Given the description of an element on the screen output the (x, y) to click on. 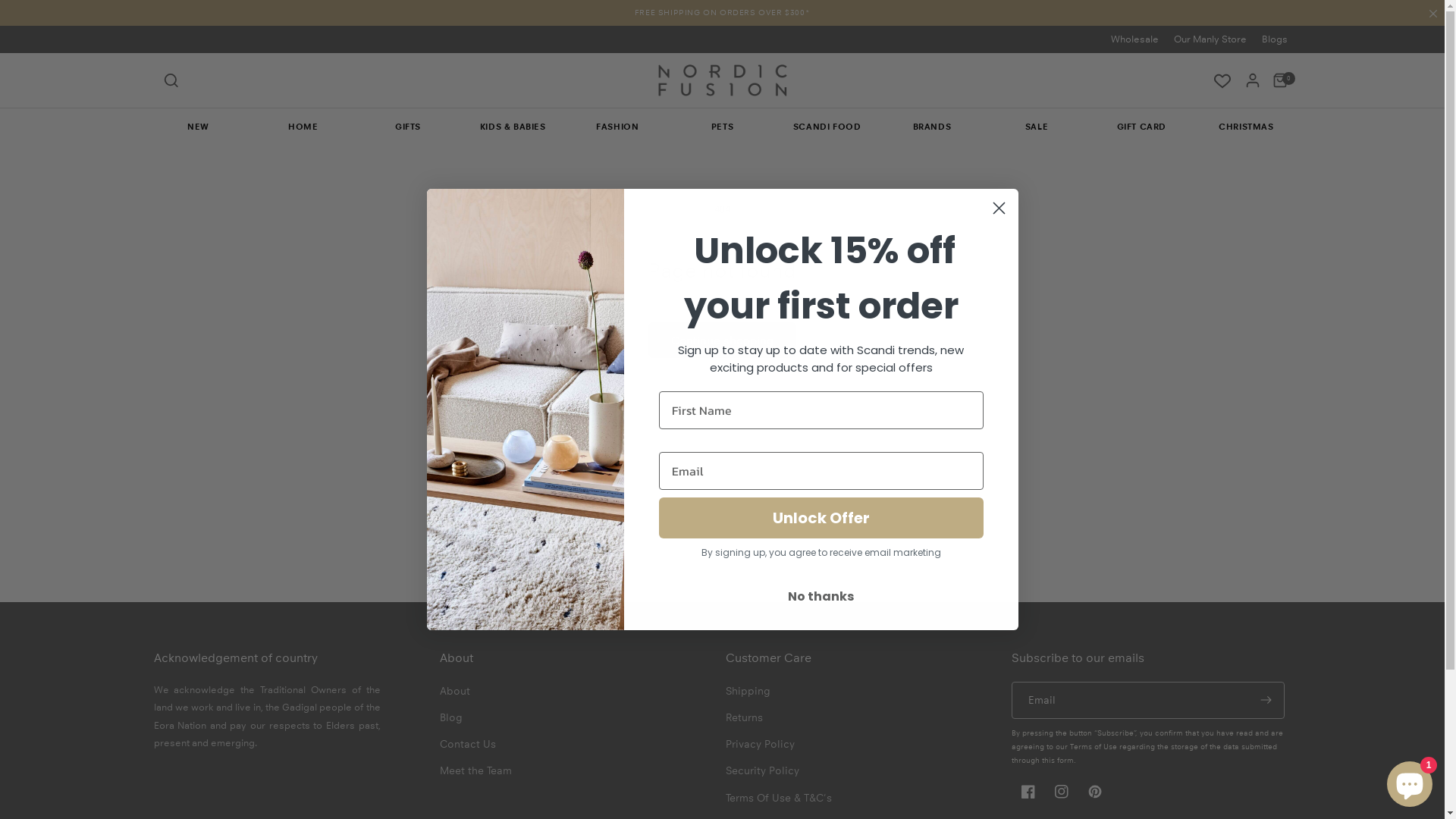
Contact Us Element type: text (467, 744)
About Element type: text (454, 692)
Blogs Element type: text (1274, 39)
No thanks Element type: text (820, 596)
Terms Of Use & T&C's Element type: text (777, 797)
Shipping Element type: text (746, 692)
HOME Element type: text (303, 127)
Returns Element type: text (743, 717)
Pinterest Element type: text (1094, 791)
Meet the Team Element type: text (475, 770)
Close dialog 1 Element type: text (998, 207)
KIDS & BABIES Element type: text (512, 127)
SCANDI FOOD Element type: text (827, 127)
Wholesale Element type: text (1133, 39)
Facebook Element type: text (1027, 791)
BRANDS Element type: text (931, 127)
Log in Element type: text (1251, 80)
Shopify online store chat Element type: hover (1409, 780)
FASHION Element type: text (617, 127)
Privacy Policy Element type: text (758, 744)
Security Policy Element type: text (761, 770)
CHRISTMAS Element type: text (1245, 127)
GIFTS Element type: text (407, 127)
Instagram Element type: text (1061, 791)
SALE Element type: text (1036, 127)
Blog Element type: text (450, 717)
Unlock Offer Element type: text (820, 517)
Continue shopping Element type: text (722, 339)
GIFT CARD Element type: text (1141, 127)
Our Manly Store Element type: text (1209, 39)
NEW Element type: text (197, 127)
Submit Element type: text (21, 7)
PETS Element type: text (721, 127)
